Given the description of an element on the screen output the (x, y) to click on. 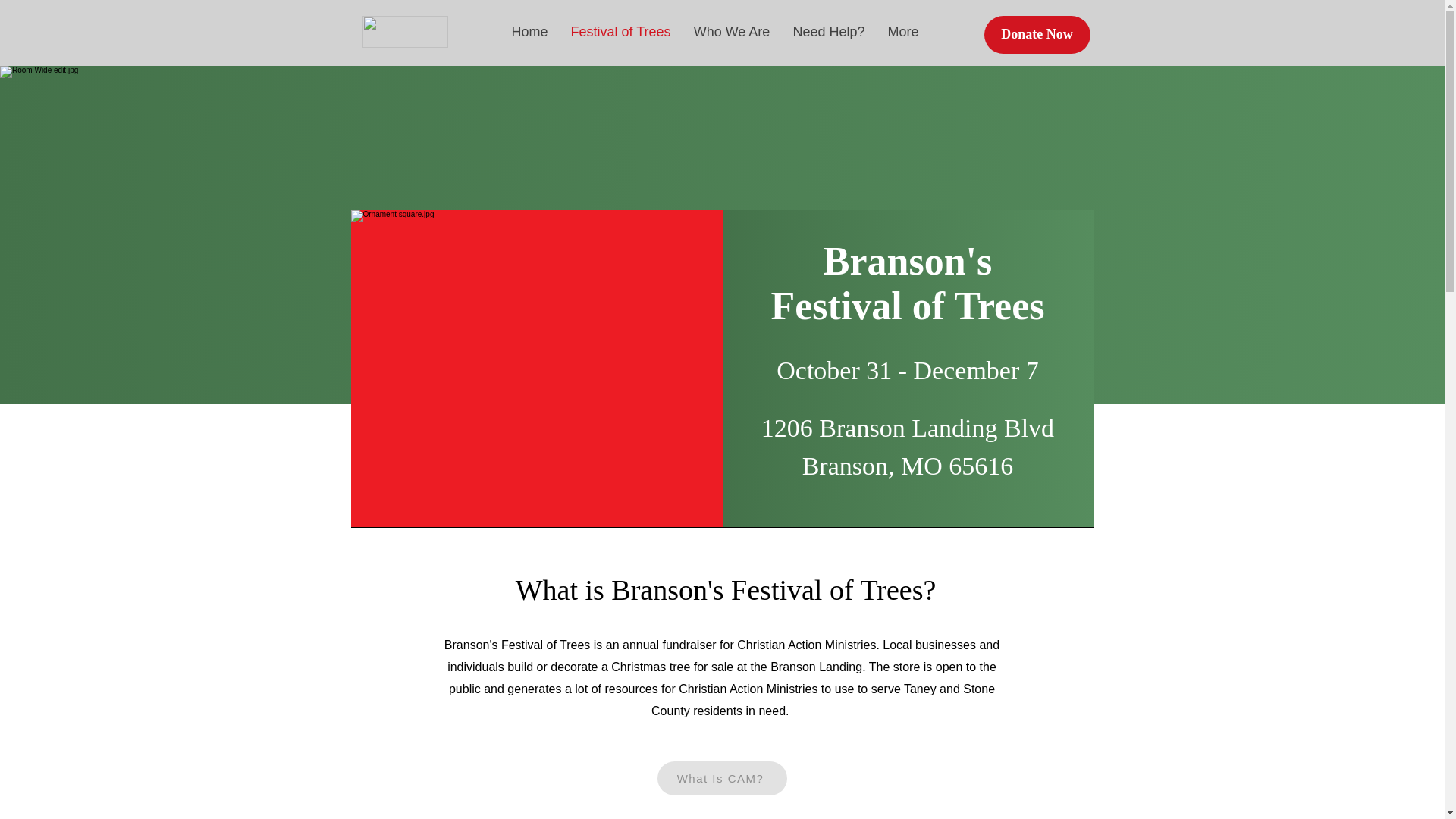
What Is CAM? (721, 778)
Who We Are (731, 31)
Home (529, 31)
Festival of Trees (620, 31)
CAM Logo - Short.png (405, 31)
1206 Branson Landing Blvd (907, 428)
Need Help? (828, 31)
Donate Now (1037, 34)
Branson, MO 65616 (907, 465)
